Given the description of an element on the screen output the (x, y) to click on. 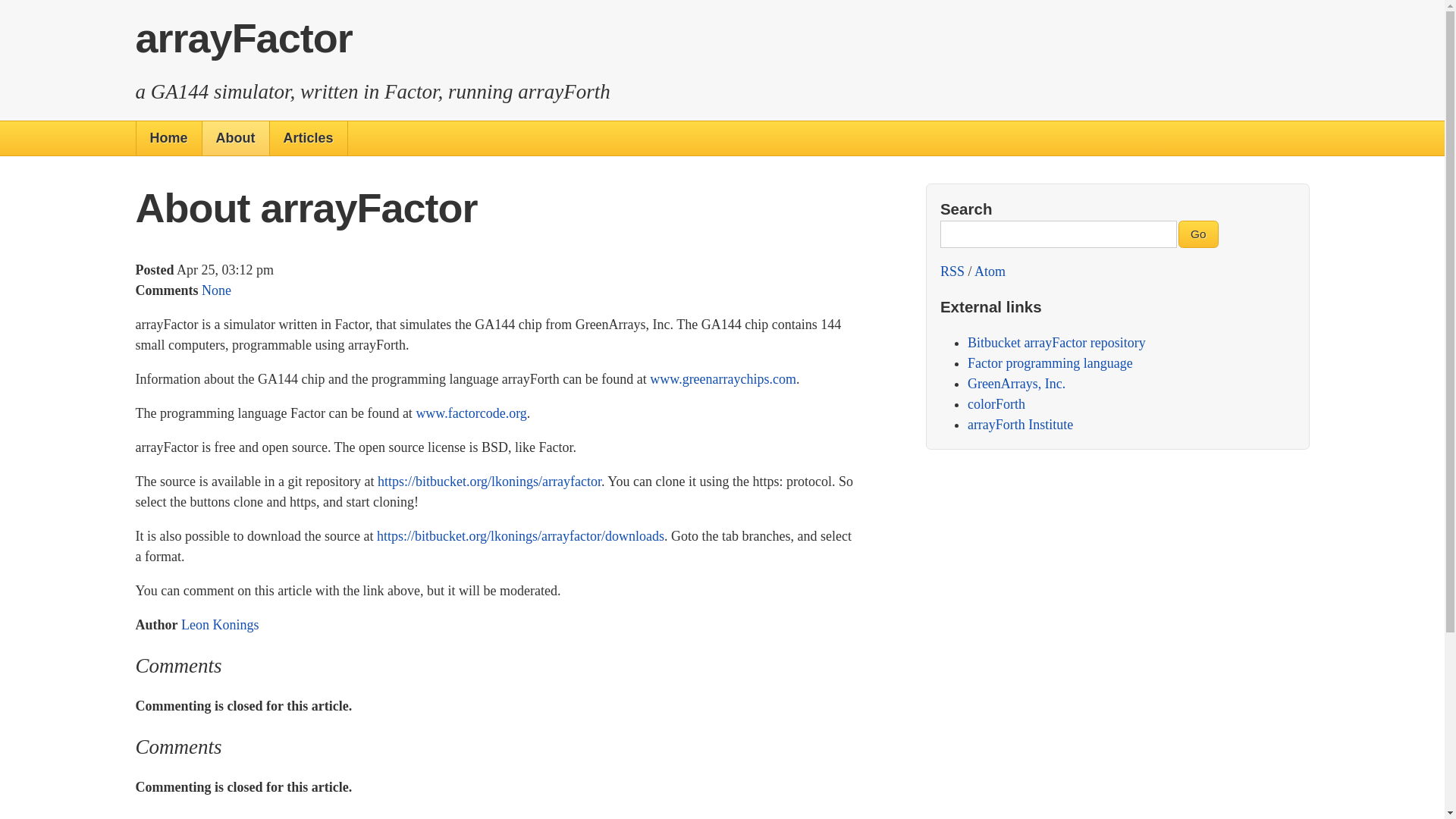
colorForth (996, 403)
About (235, 138)
Leon Konings (219, 624)
www.greenarraychips.com (722, 378)
Bitbucket arrayFactor repository (1056, 342)
Atom (990, 271)
www.factorcode.org (469, 412)
RSS (951, 271)
Home (169, 138)
Go (1197, 233)
Provides free online learning experiences. (1020, 424)
GreenArrays Inc. produces the GA144 chips. (1016, 383)
Repository of arrayFactor (1056, 342)
GreenArrays, Inc. (1016, 383)
